Given the description of an element on the screen output the (x, y) to click on. 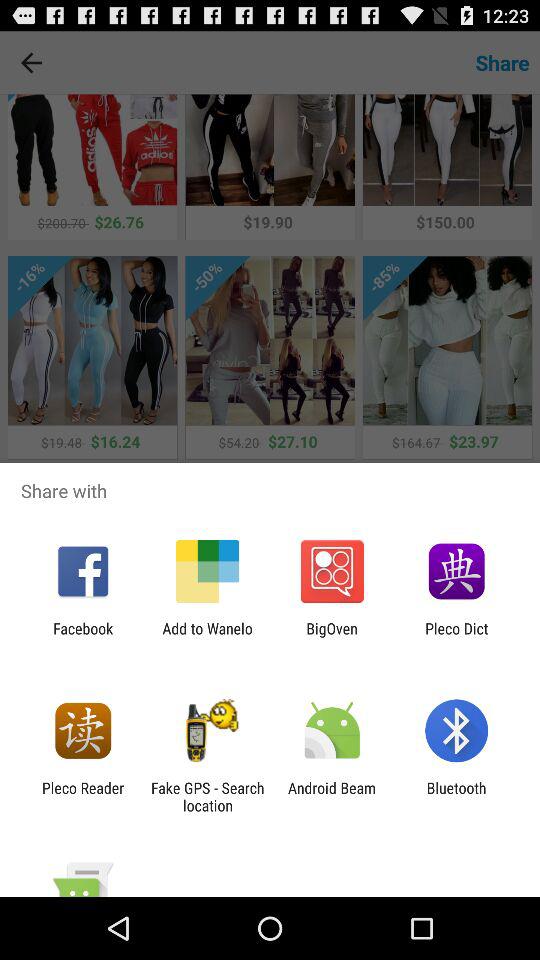
open app next to pleco dict icon (331, 637)
